Given the description of an element on the screen output the (x, y) to click on. 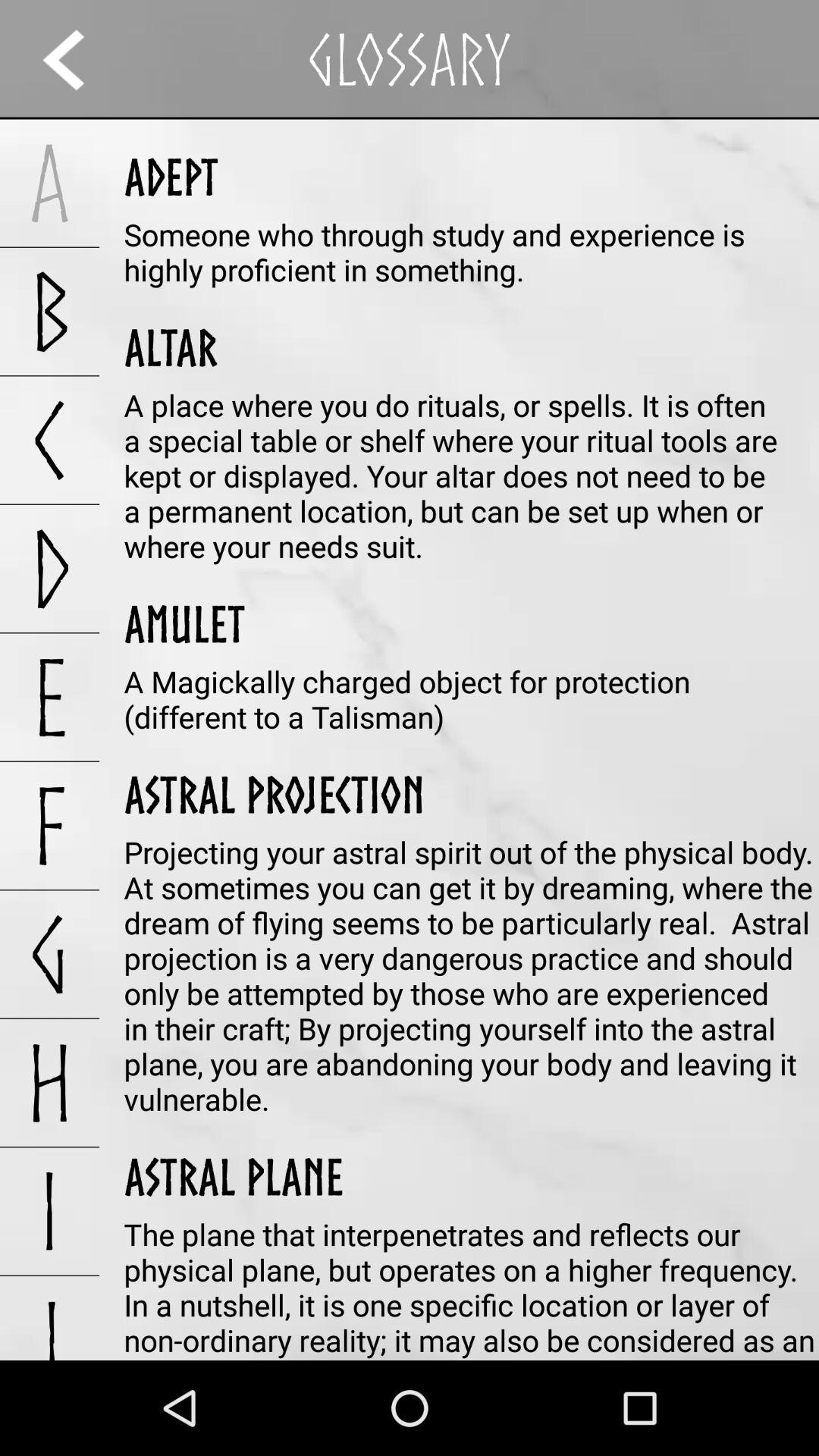
turn on icon above e (49, 568)
